Given the description of an element on the screen output the (x, y) to click on. 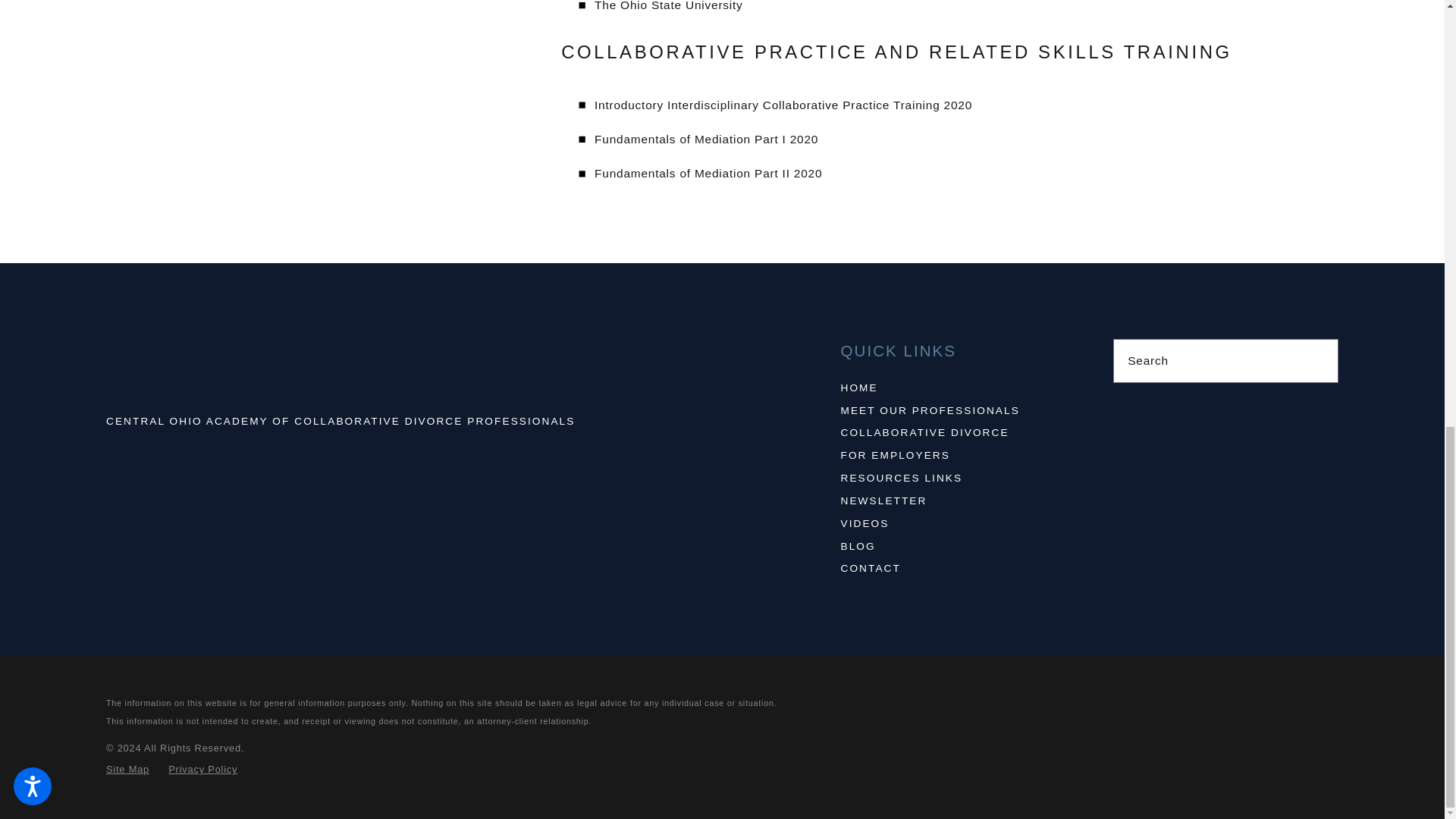
Search Our Site (1318, 360)
Search Icon (1318, 360)
